Given the description of an element on the screen output the (x, y) to click on. 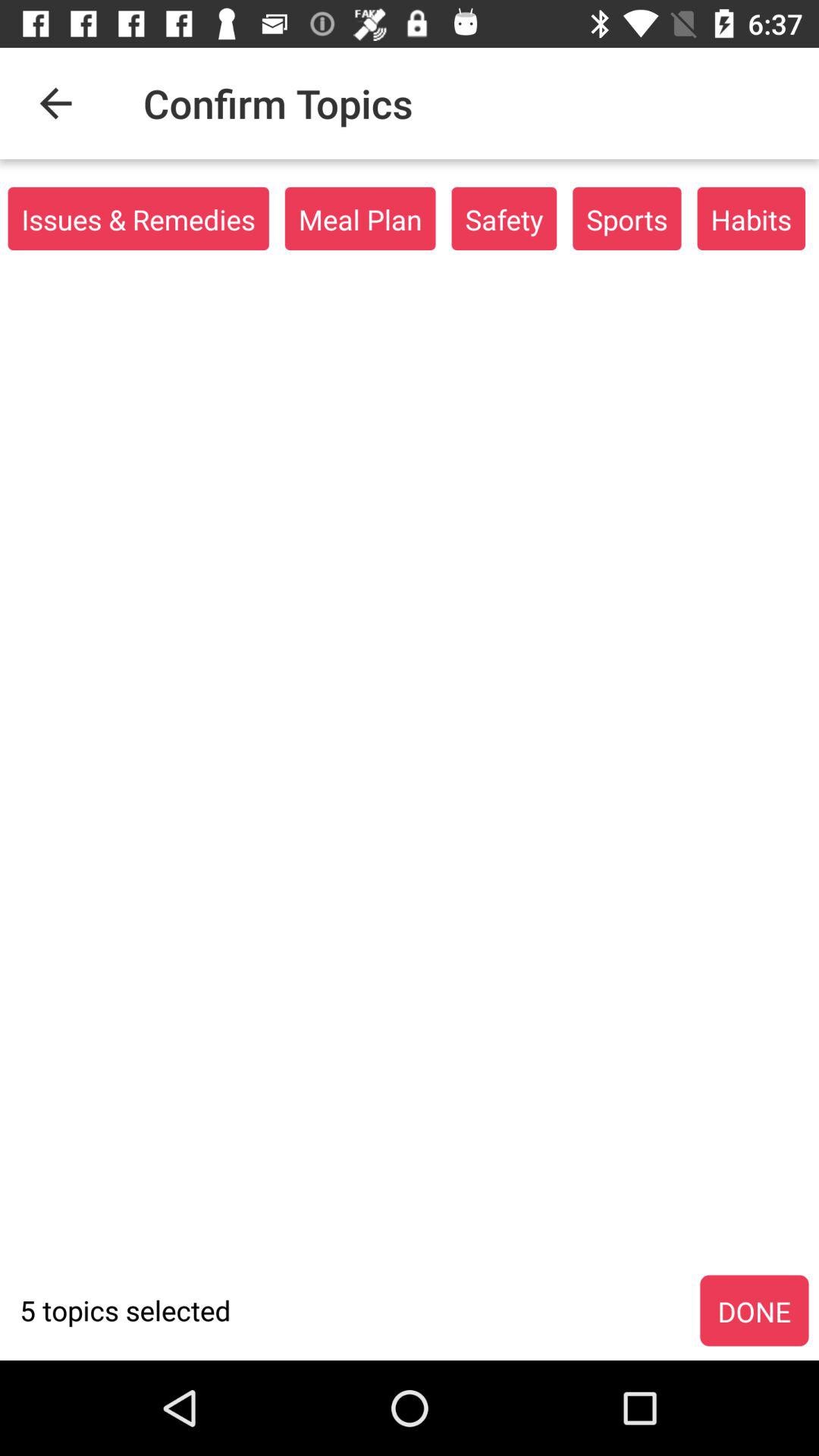
turn on done (754, 1311)
